Given the description of an element on the screen output the (x, y) to click on. 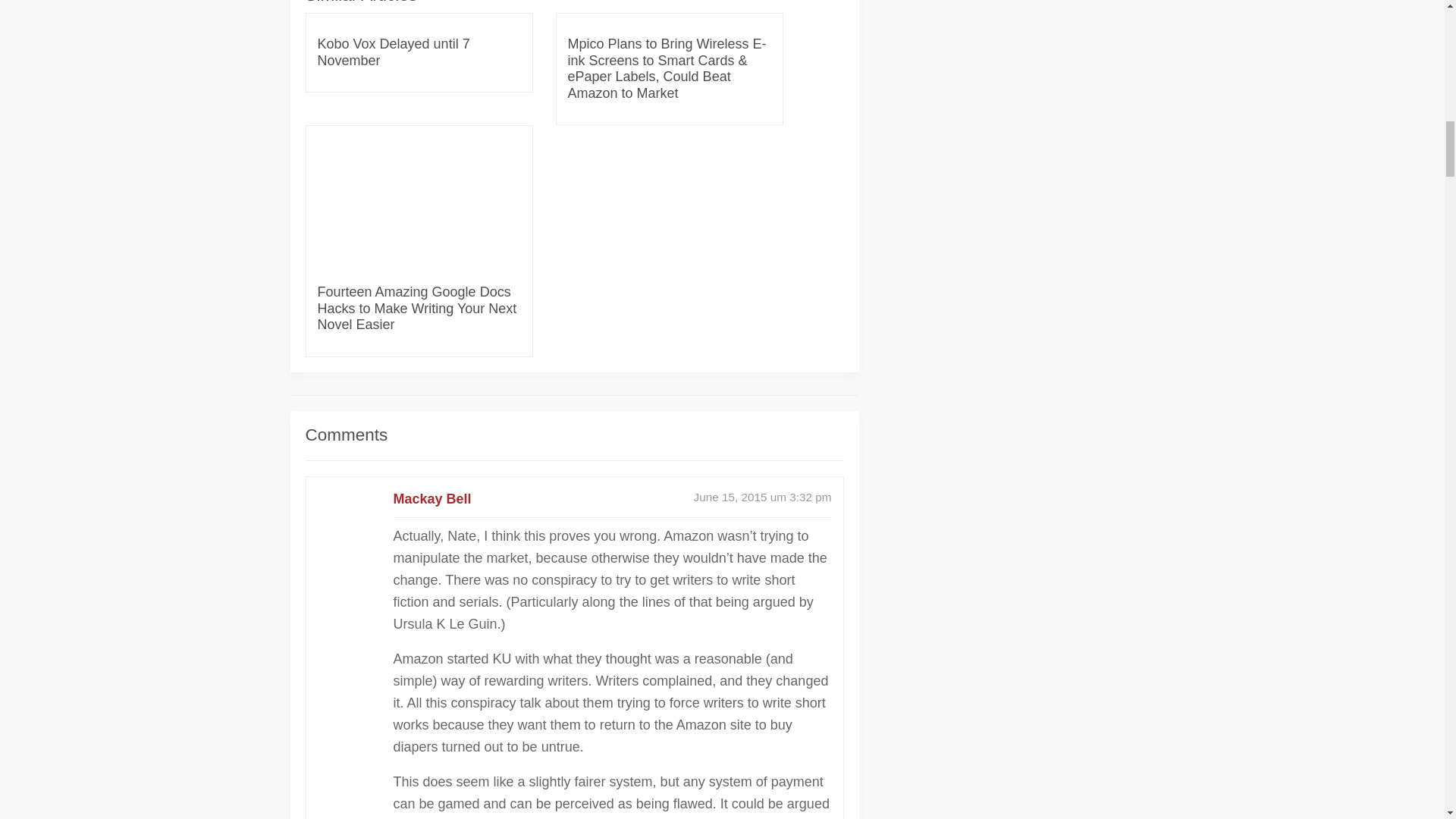
Kobo Vox Delayed until 7 November (418, 52)
Kobo Vox Delayed until 7 November (418, 52)
